Given the description of an element on the screen output the (x, y) to click on. 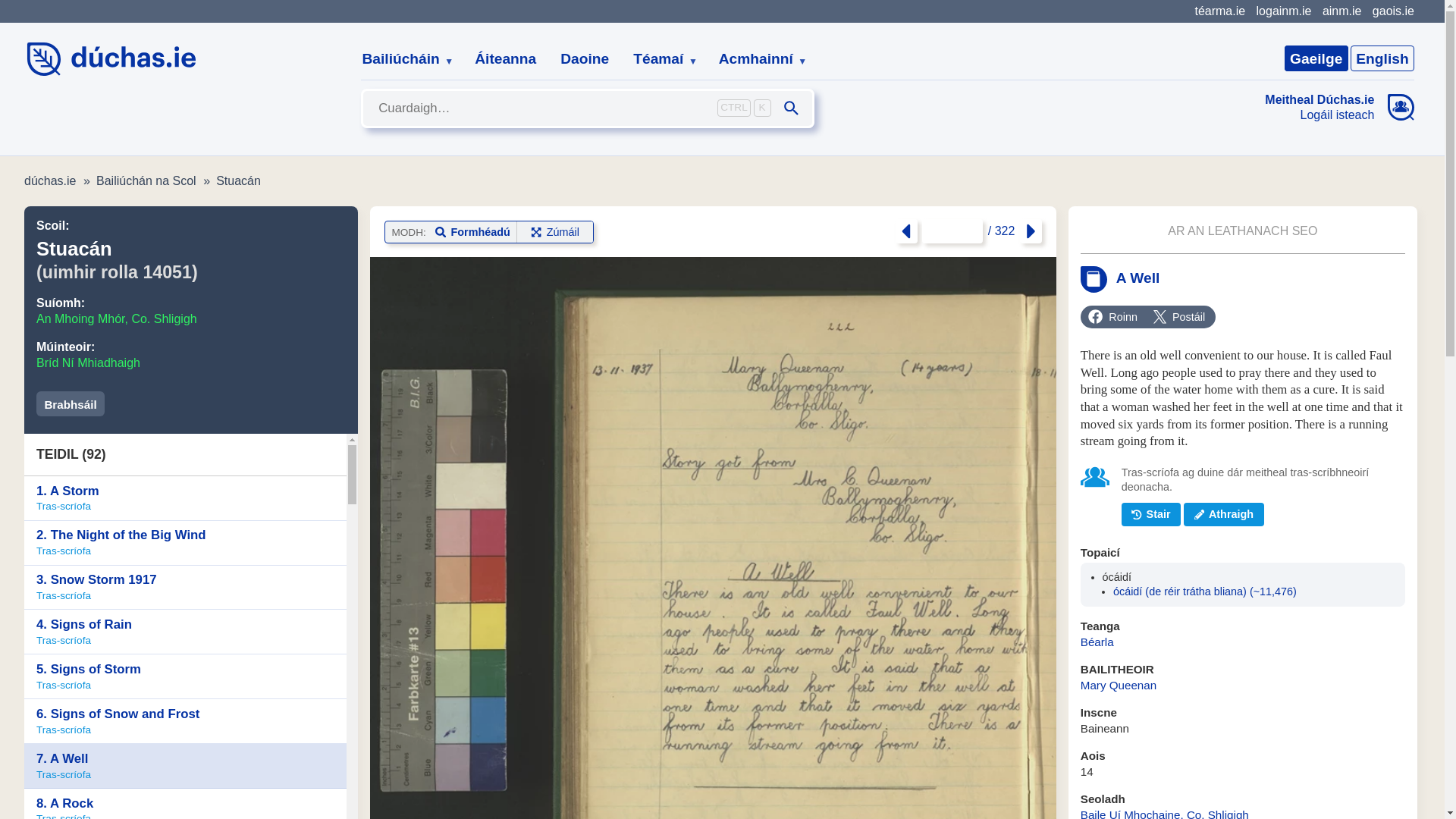
ainm.ie (1341, 11)
logainm.ie (1283, 11)
Daoine (584, 58)
Gaeilge (1316, 58)
English (1382, 58)
gaois.ie (1393, 11)
